Given the description of an element on the screen output the (x, y) to click on. 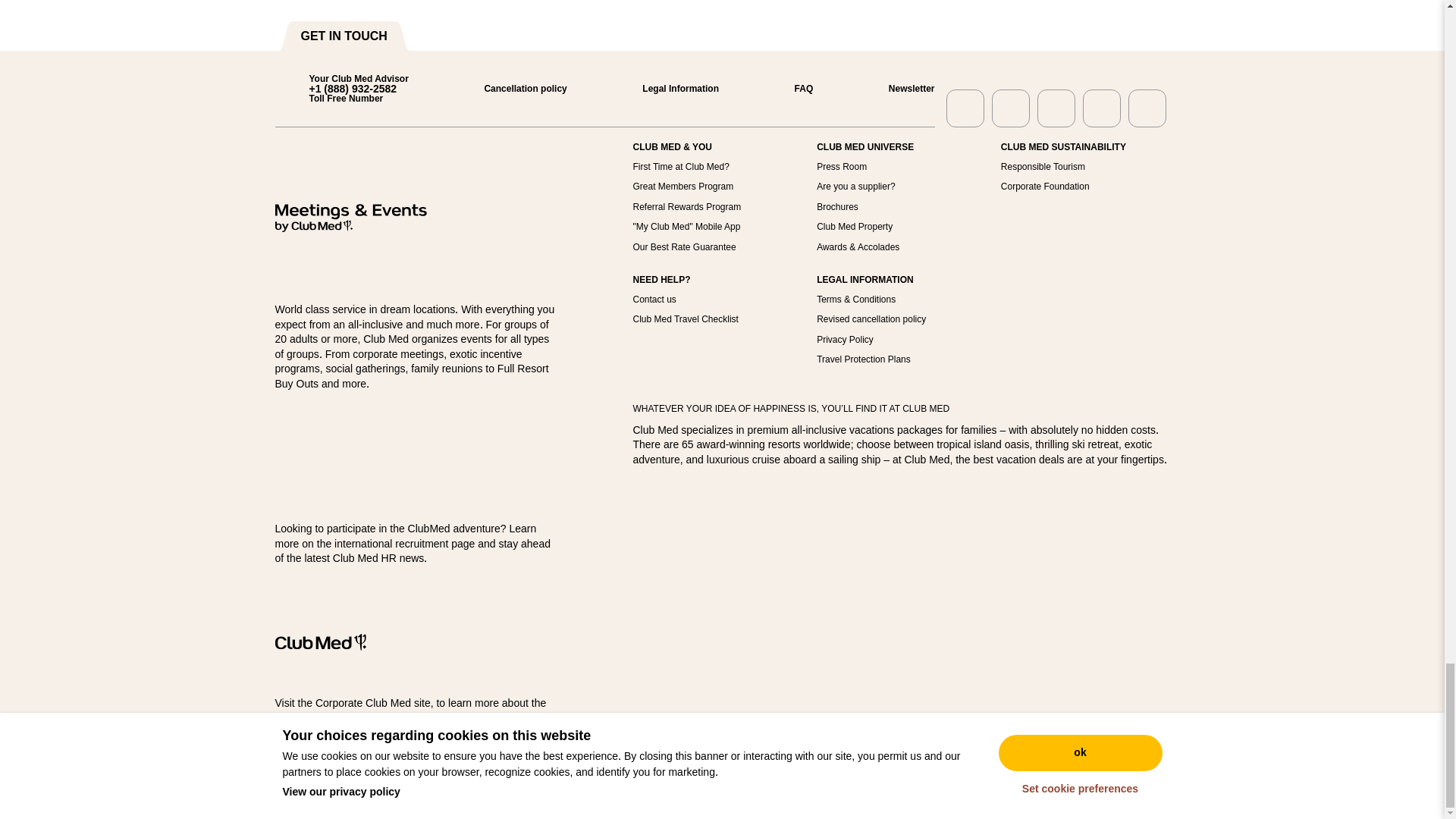
Legal Information (663, 88)
Your Club Med Advisor Toll Free Number (341, 88)
Newsletter (894, 88)
Cancellation policy (507, 88)
FAQ (786, 88)
